Given the description of an element on the screen output the (x, y) to click on. 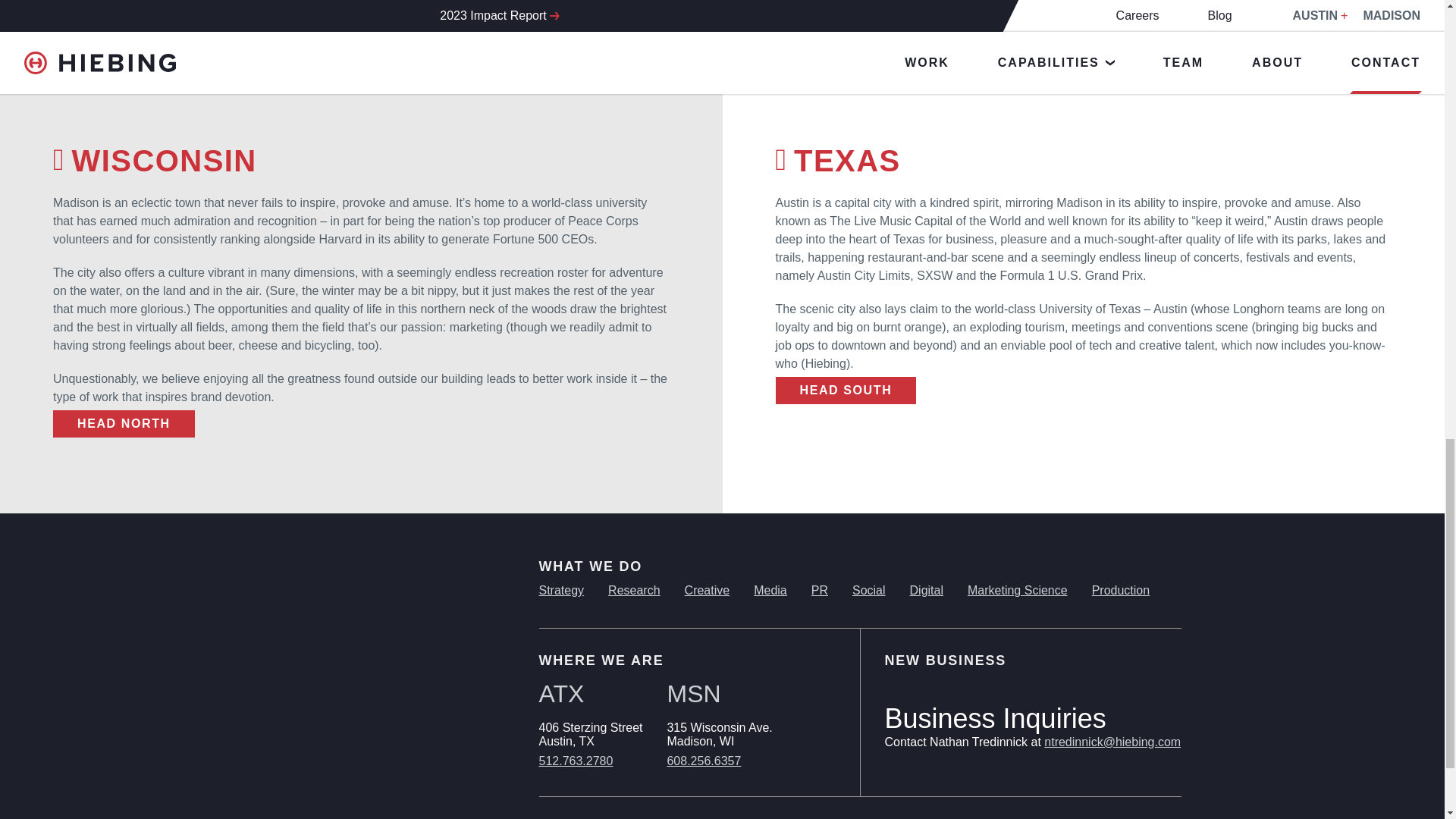
Research (633, 590)
Media (770, 590)
HEAD NORTH (123, 423)
Creative (707, 590)
HEAD SOUTH (844, 390)
Strategy (560, 590)
